Given the description of an element on the screen output the (x, y) to click on. 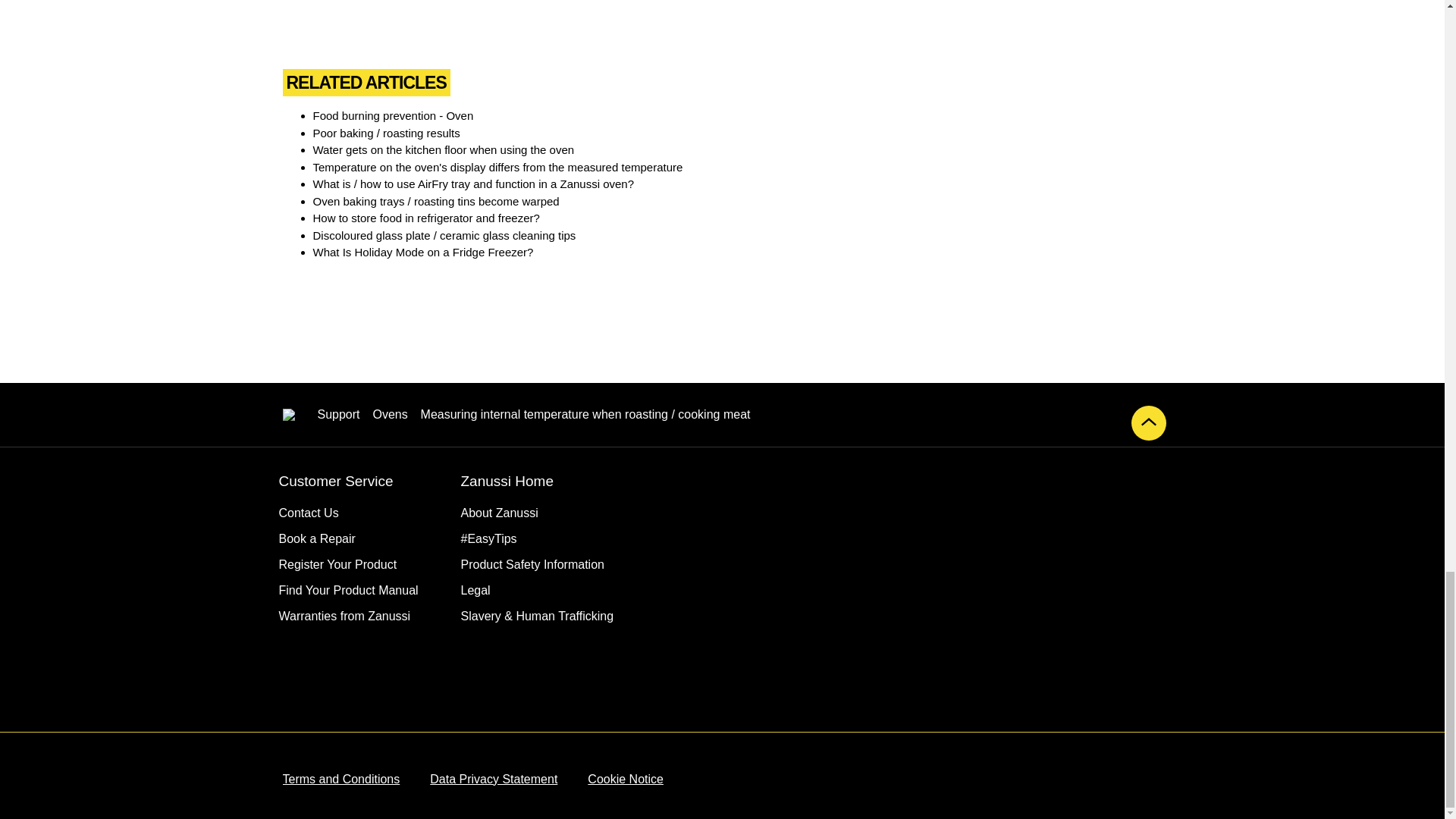
Terms and Conditions (340, 779)
